Given the description of an element on the screen output the (x, y) to click on. 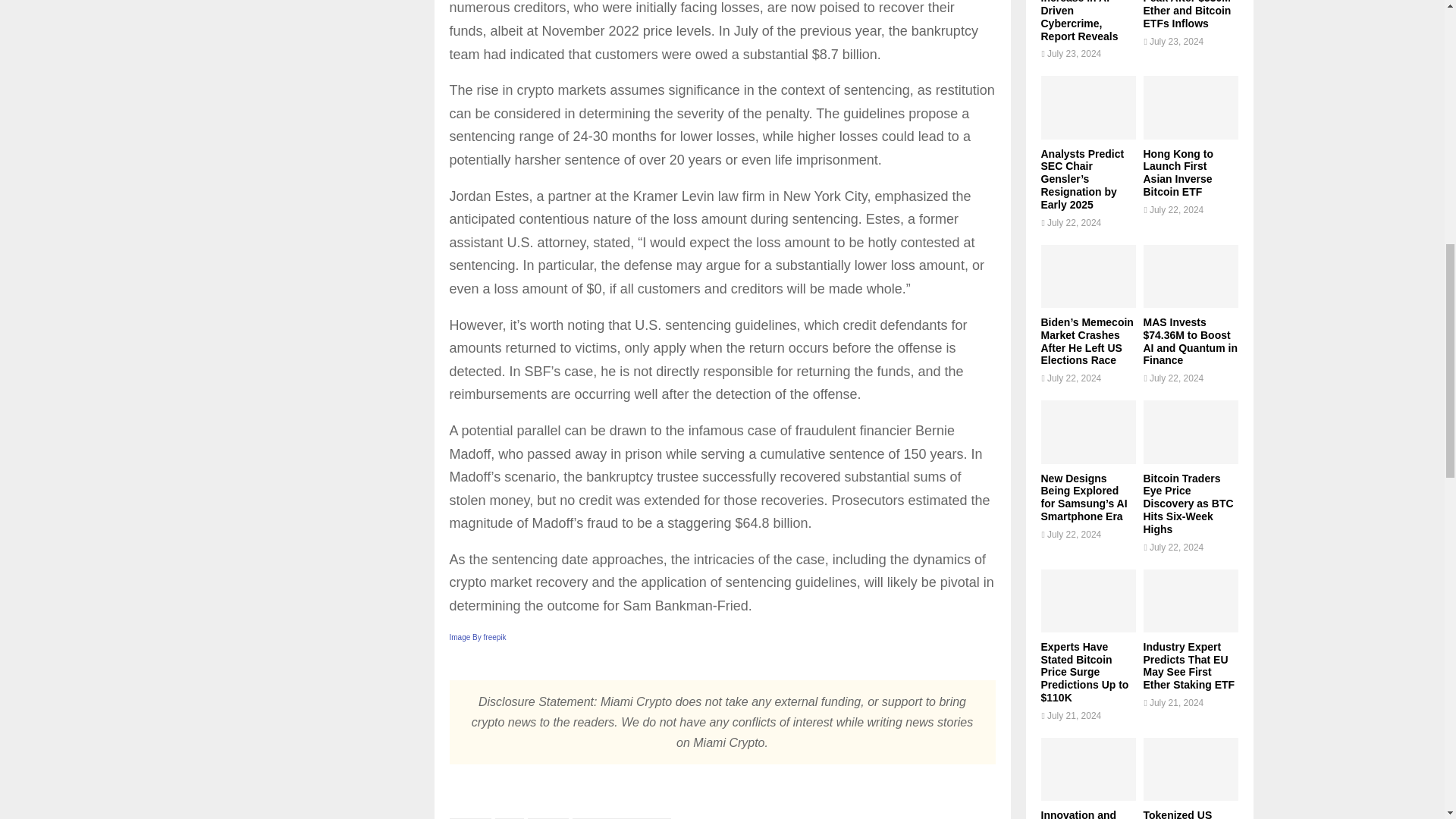
LEGAL (548, 818)
FRAUD (469, 818)
Image By freepik (476, 637)
